Given the description of an element on the screen output the (x, y) to click on. 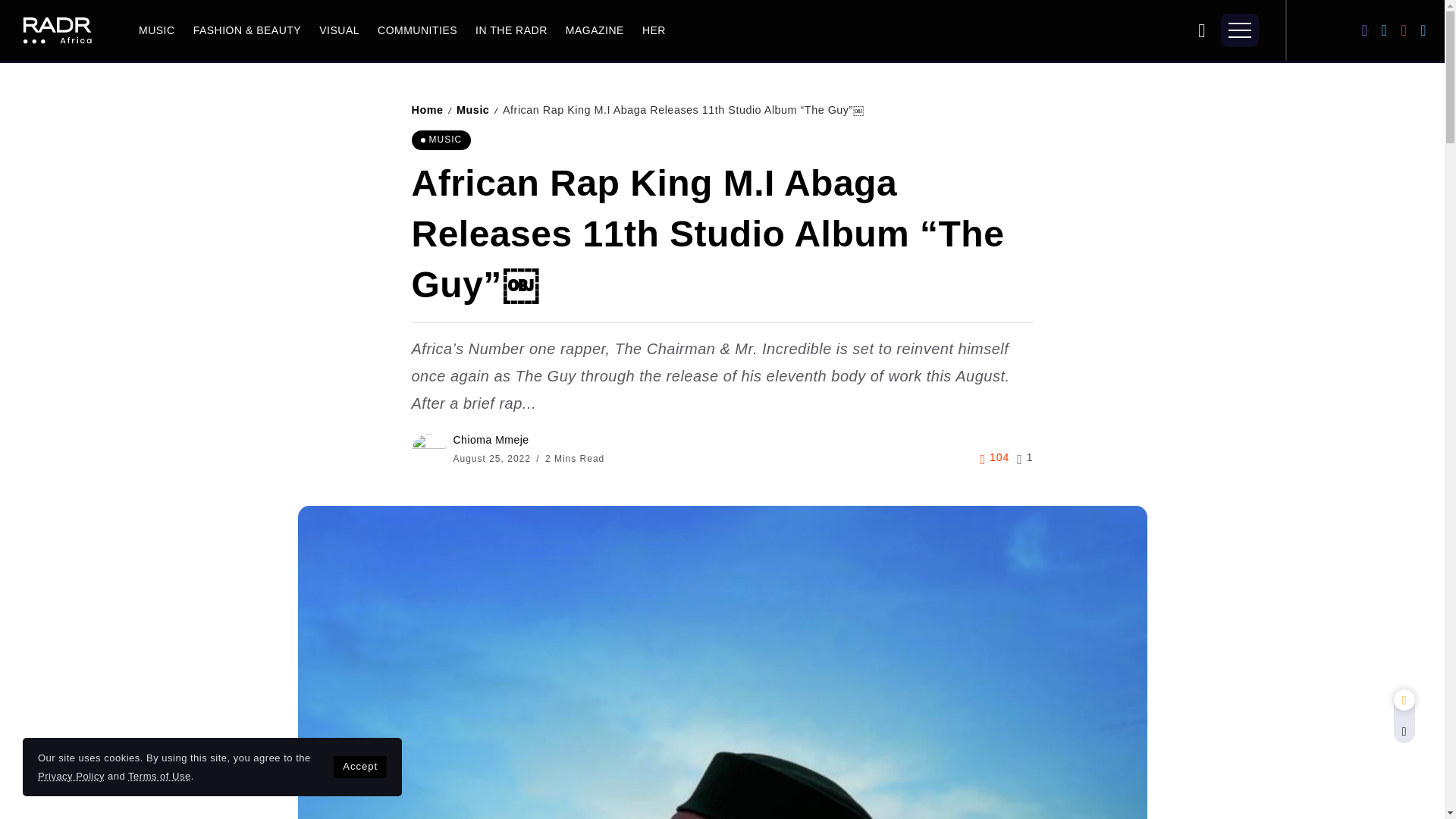
1 (1024, 457)
COMMUNITIES (417, 29)
HER (654, 29)
Home (426, 110)
Views (994, 456)
Music (473, 110)
Radr Africa (56, 29)
MAGAZINE (594, 29)
MUSIC (156, 29)
VISUAL (339, 29)
